Given the description of an element on the screen output the (x, y) to click on. 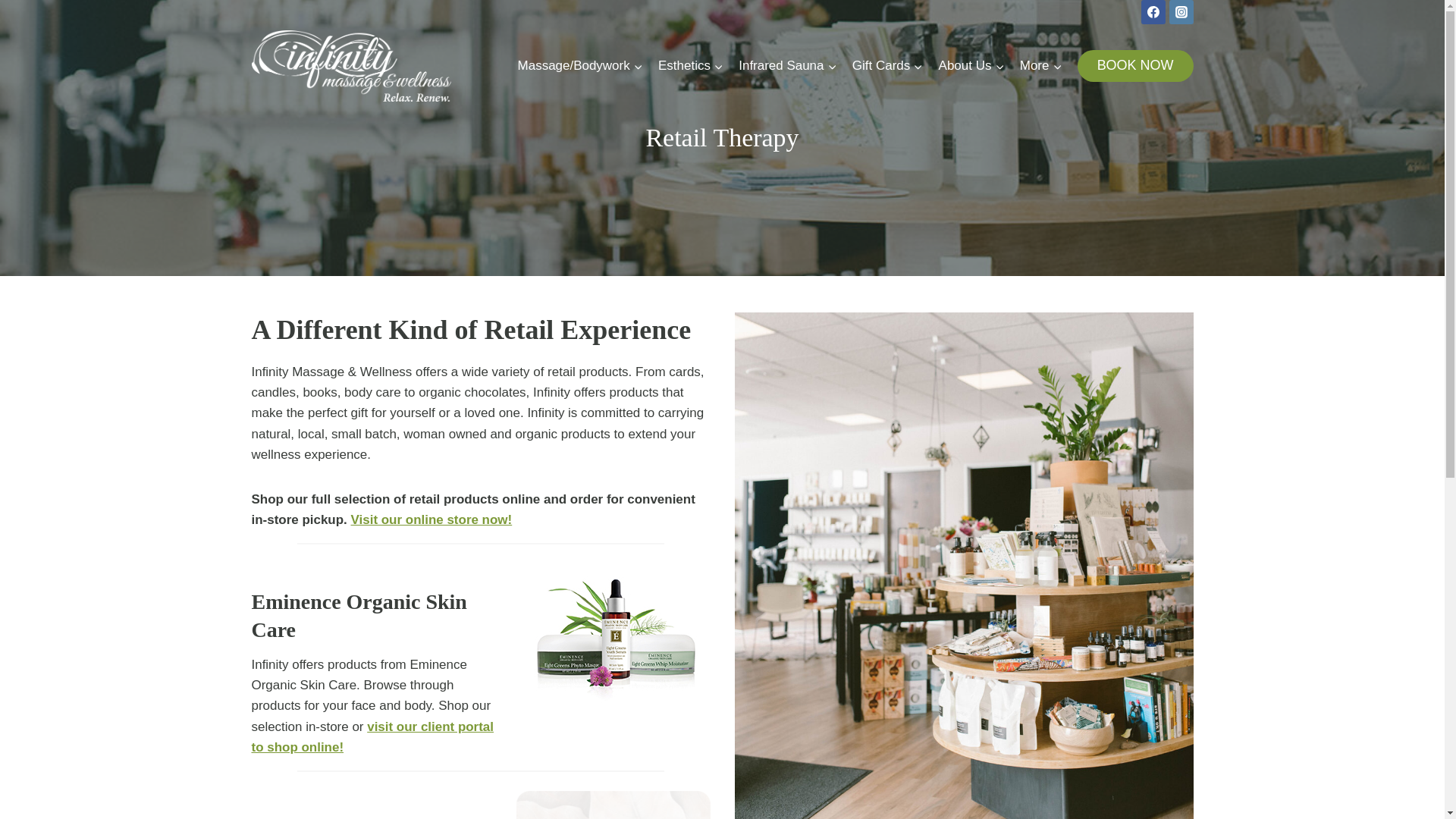
BOOK NOW (1135, 65)
Visit our online store now! (431, 519)
visit our client portal to shop online! (373, 736)
About Us (970, 65)
Gift Cards (887, 65)
More (1040, 65)
Infrared Sauna (787, 65)
Esthetics (690, 65)
